Given the description of an element on the screen output the (x, y) to click on. 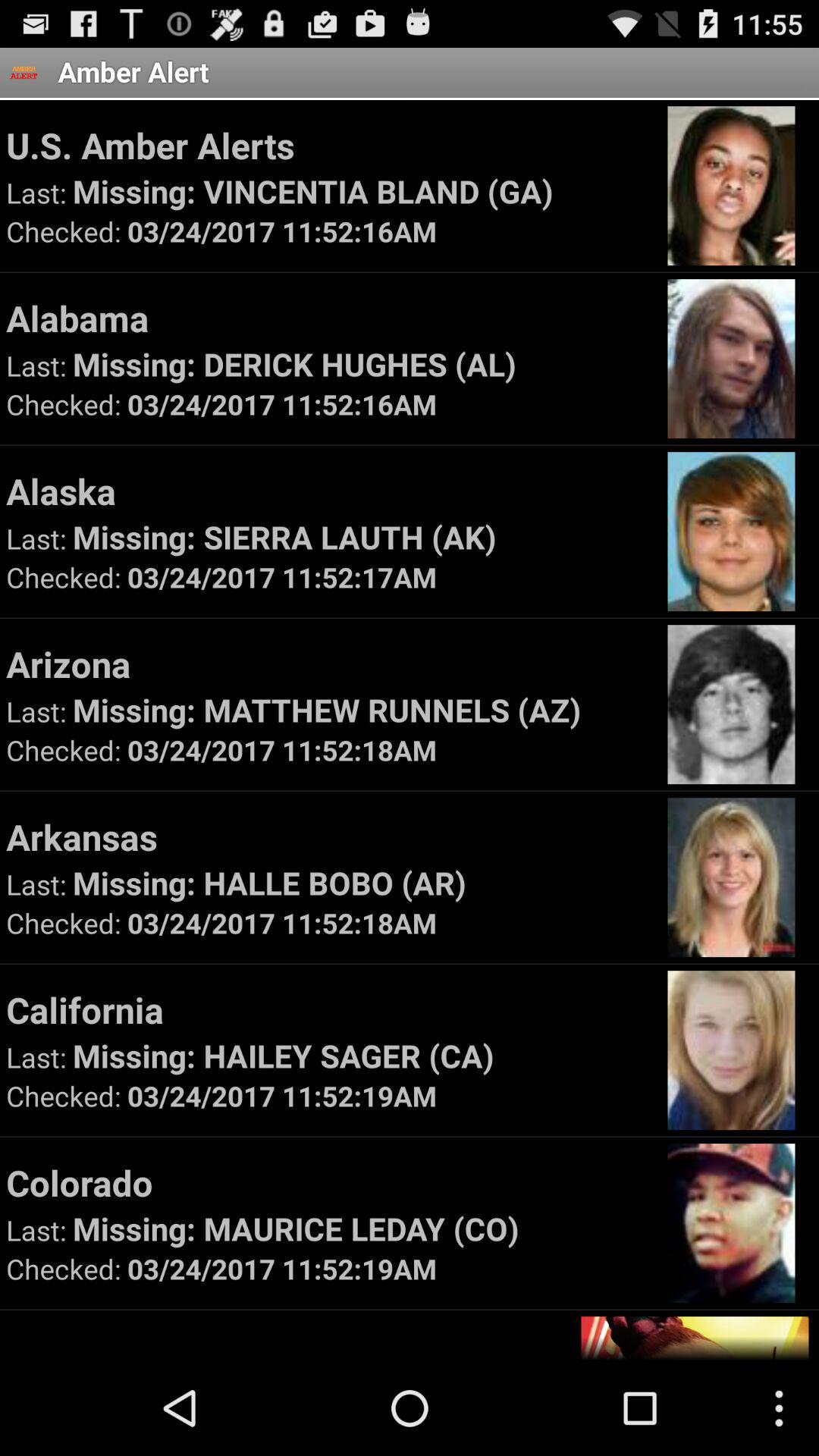
swipe to arizona app (329, 663)
